Given the description of an element on the screen output the (x, y) to click on. 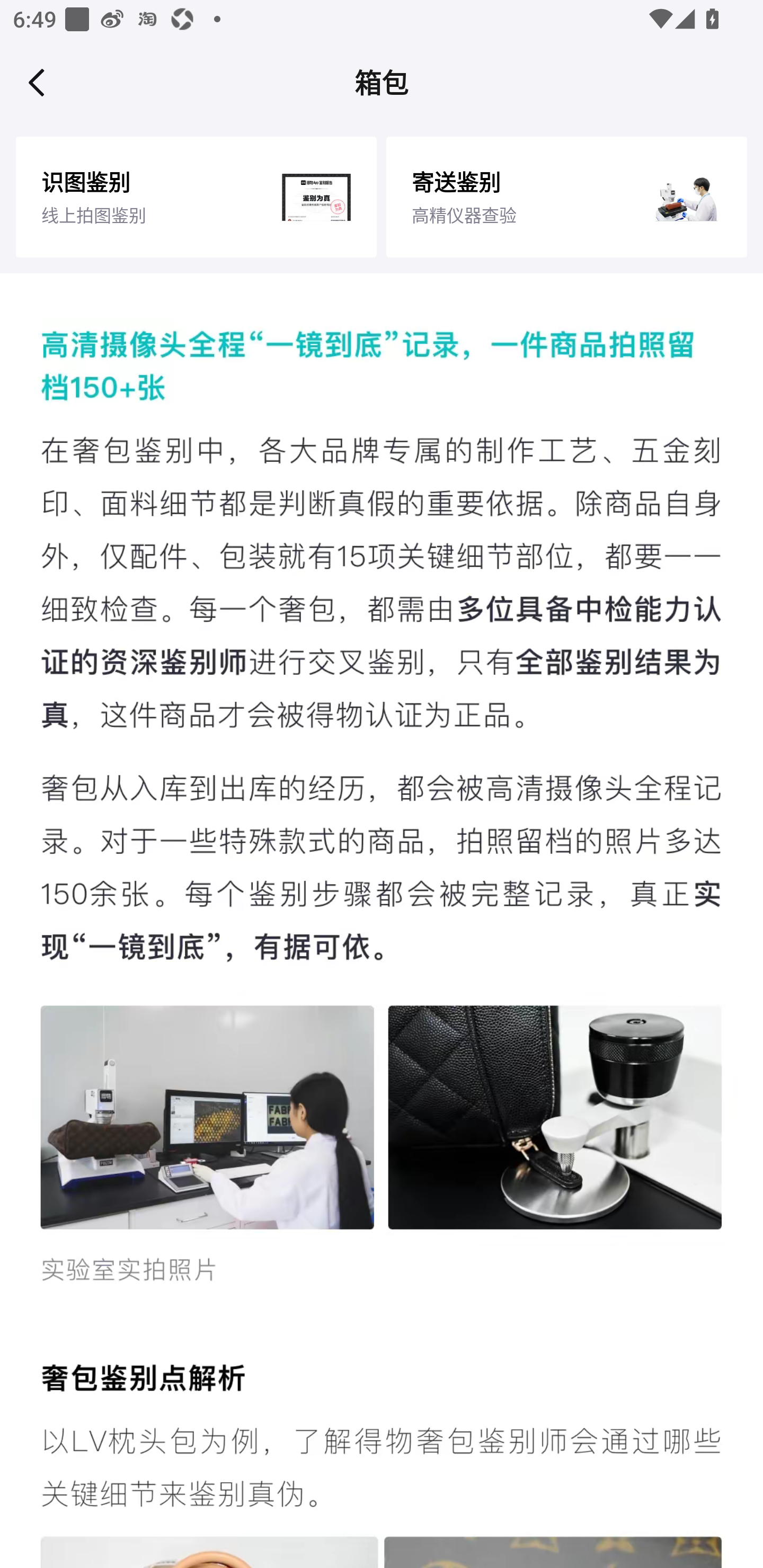
Navigate up (36, 82)
识图鉴别 线上拍图鉴别 (196, 196)
寄送鉴别 高精仪器查验 (566, 196)
